Given the description of an element on the screen output the (x, y) to click on. 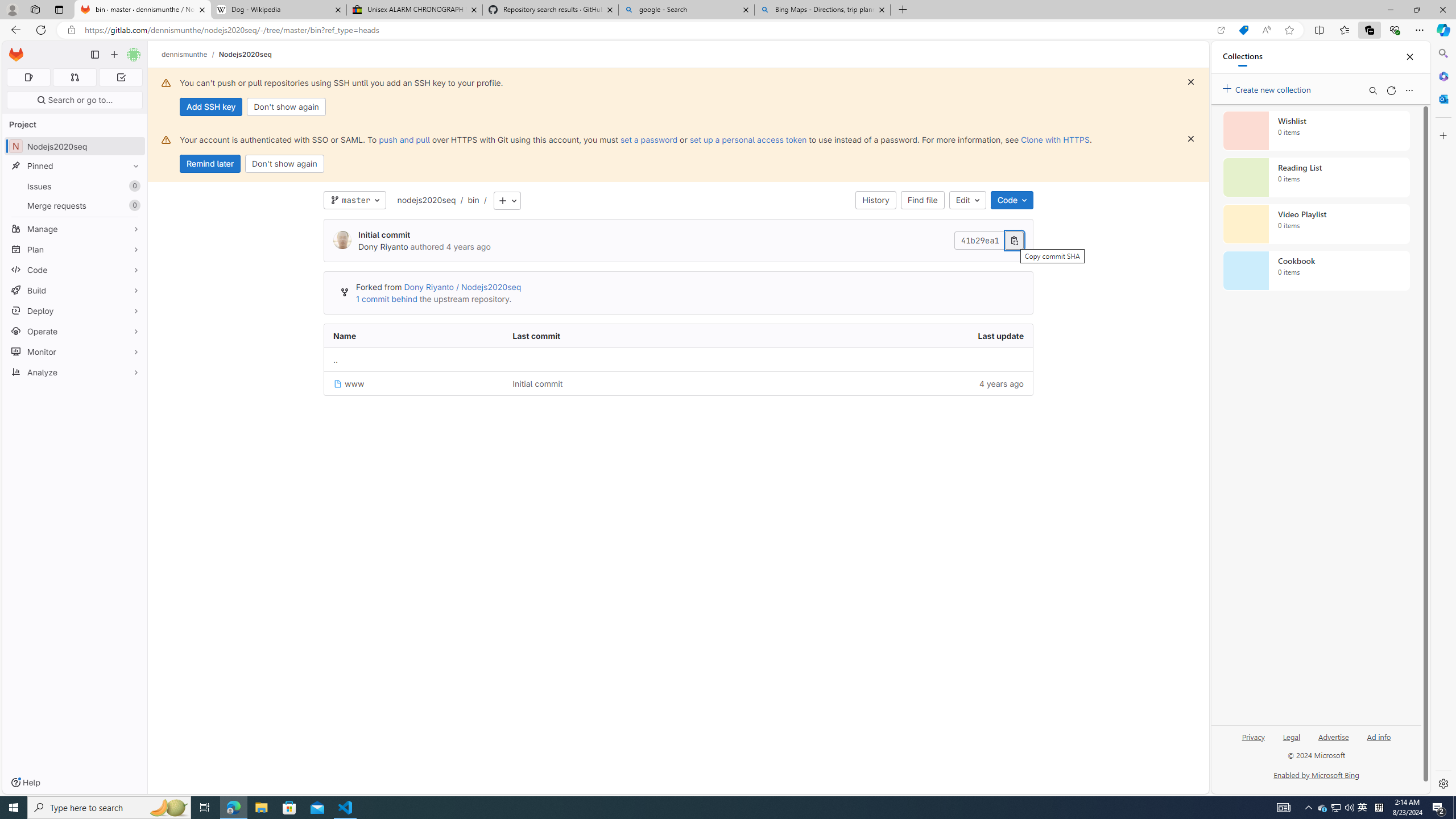
Initial commit (537, 383)
Last commit (627, 336)
push and pull (403, 139)
Name (413, 336)
Unpin Issues (132, 186)
Create new collection (1268, 87)
Dony Riyanto (382, 246)
Analyze (74, 371)
Initial commit (627, 383)
dennismunthe/ (189, 53)
Clone with HTTPS (1054, 139)
